Given the description of an element on the screen output the (x, y) to click on. 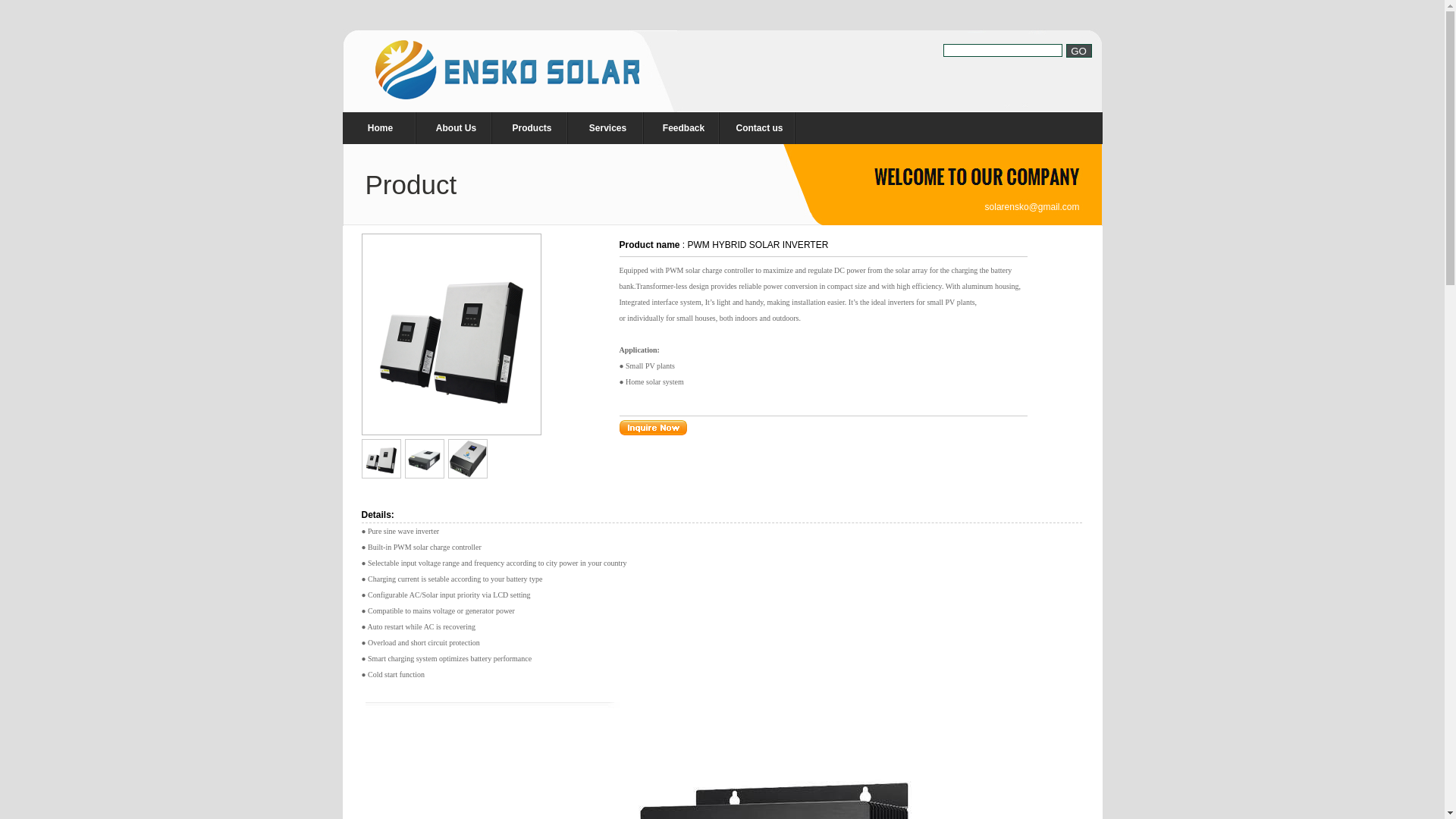
GO (1078, 50)
Contact us (759, 128)
Products (532, 128)
Products (532, 128)
Services (608, 128)
Services (608, 128)
GO (1078, 50)
About Us (457, 128)
GO (1078, 50)
Home (380, 128)
